Given the description of an element on the screen output the (x, y) to click on. 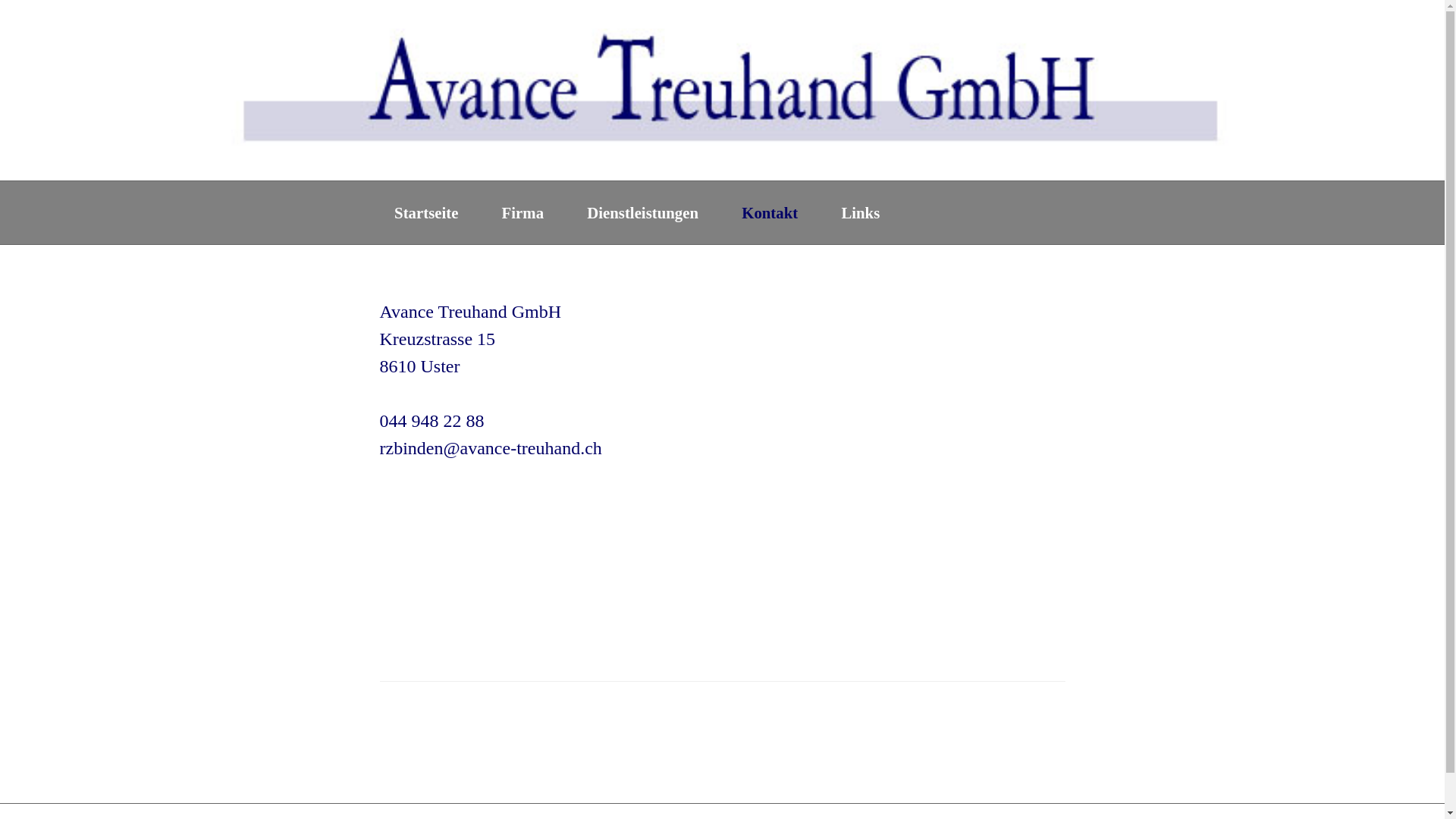
rzbinden@avance-treuhand.ch Element type: text (490, 448)
Firma Element type: text (522, 212)
Dienstleistungen Element type: text (642, 212)
Startseite Element type: text (425, 212)
Kontakt Element type: text (769, 212)
Links Element type: text (860, 212)
